Given the description of an element on the screen output the (x, y) to click on. 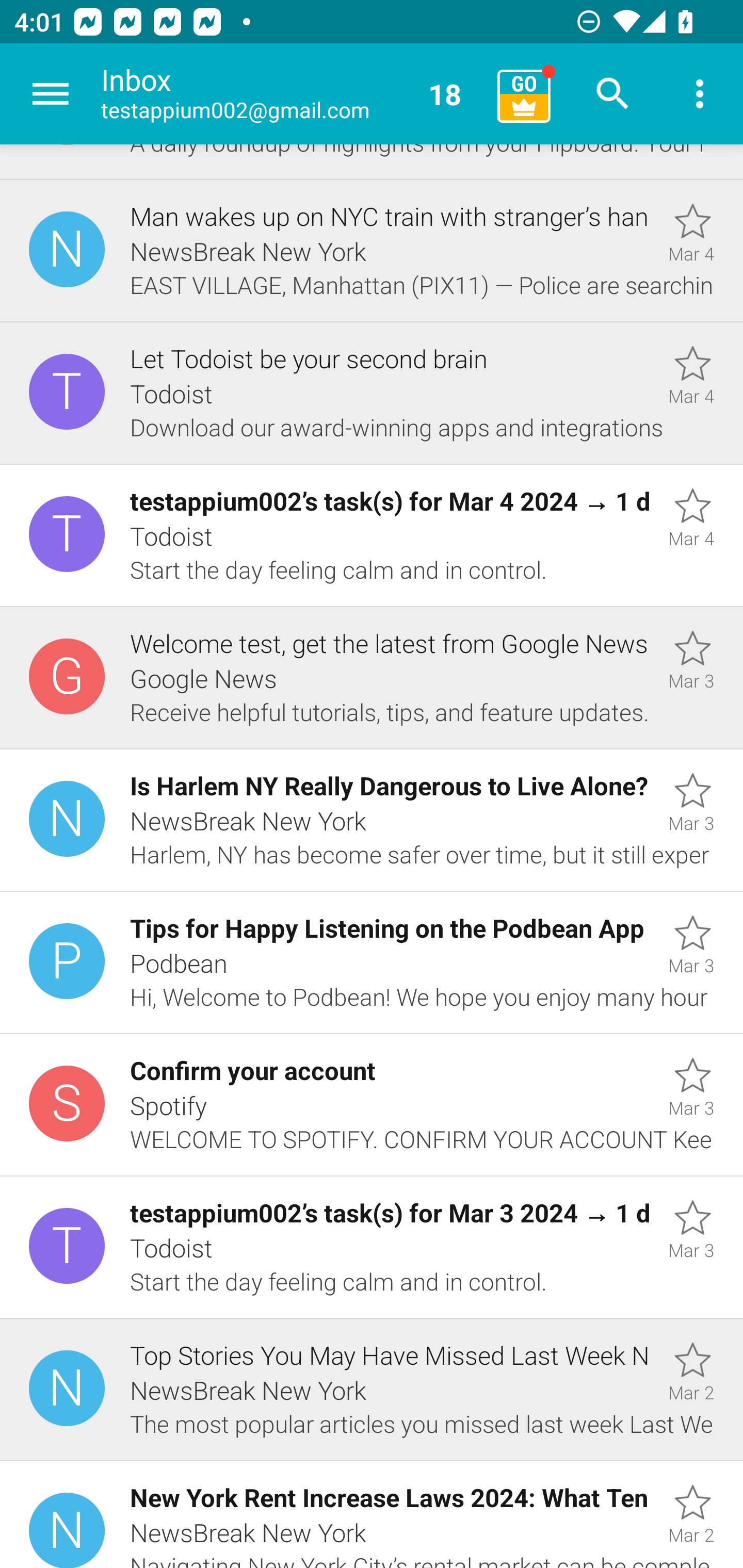
Navigate up (50, 93)
Inbox testappium002@gmail.com 18 (291, 93)
Search (612, 93)
More options (699, 93)
